Given the description of an element on the screen output the (x, y) to click on. 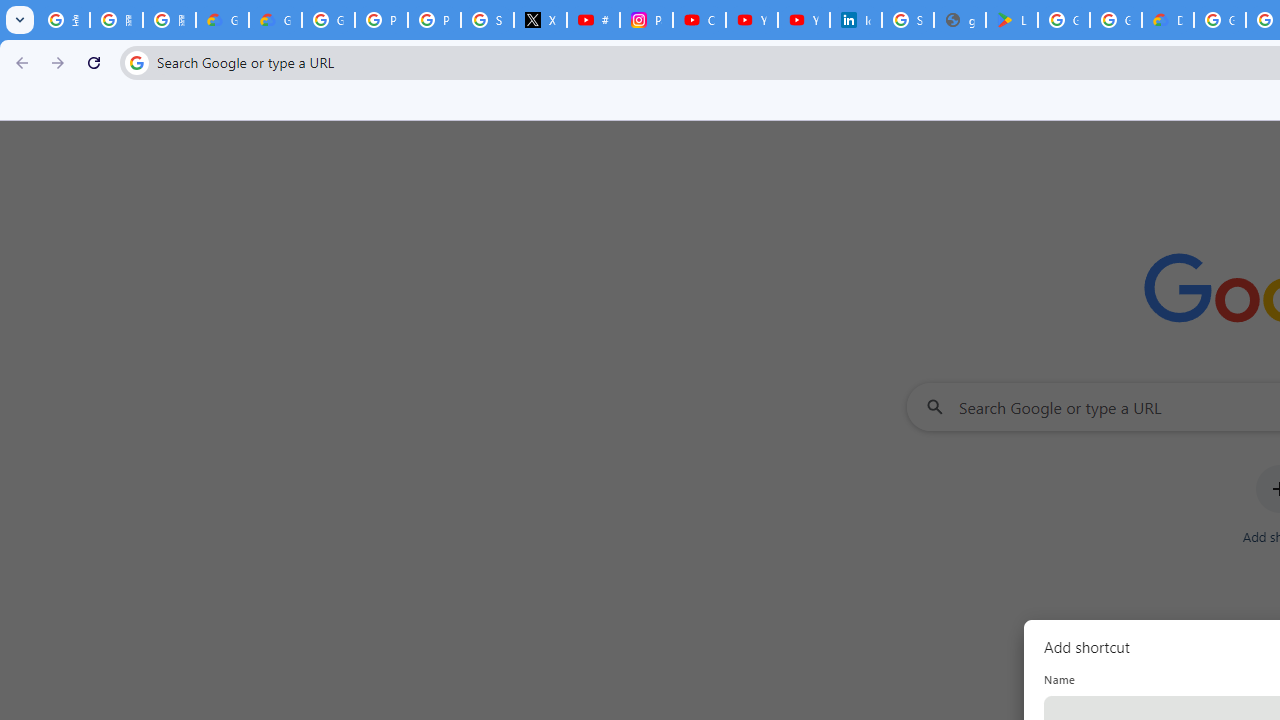
Identity verification via Persona | LinkedIn Help (855, 20)
Sign in - Google Accounts (487, 20)
Google Cloud Privacy Notice (275, 20)
Privacy Help Center - Policies Help (434, 20)
YouTube Culture & Trends - YouTube Top 10, 2021 (803, 20)
Google Cloud Privacy Notice (222, 20)
#nbabasketballhighlights - YouTube (593, 20)
